Given the description of an element on the screen output the (x, y) to click on. 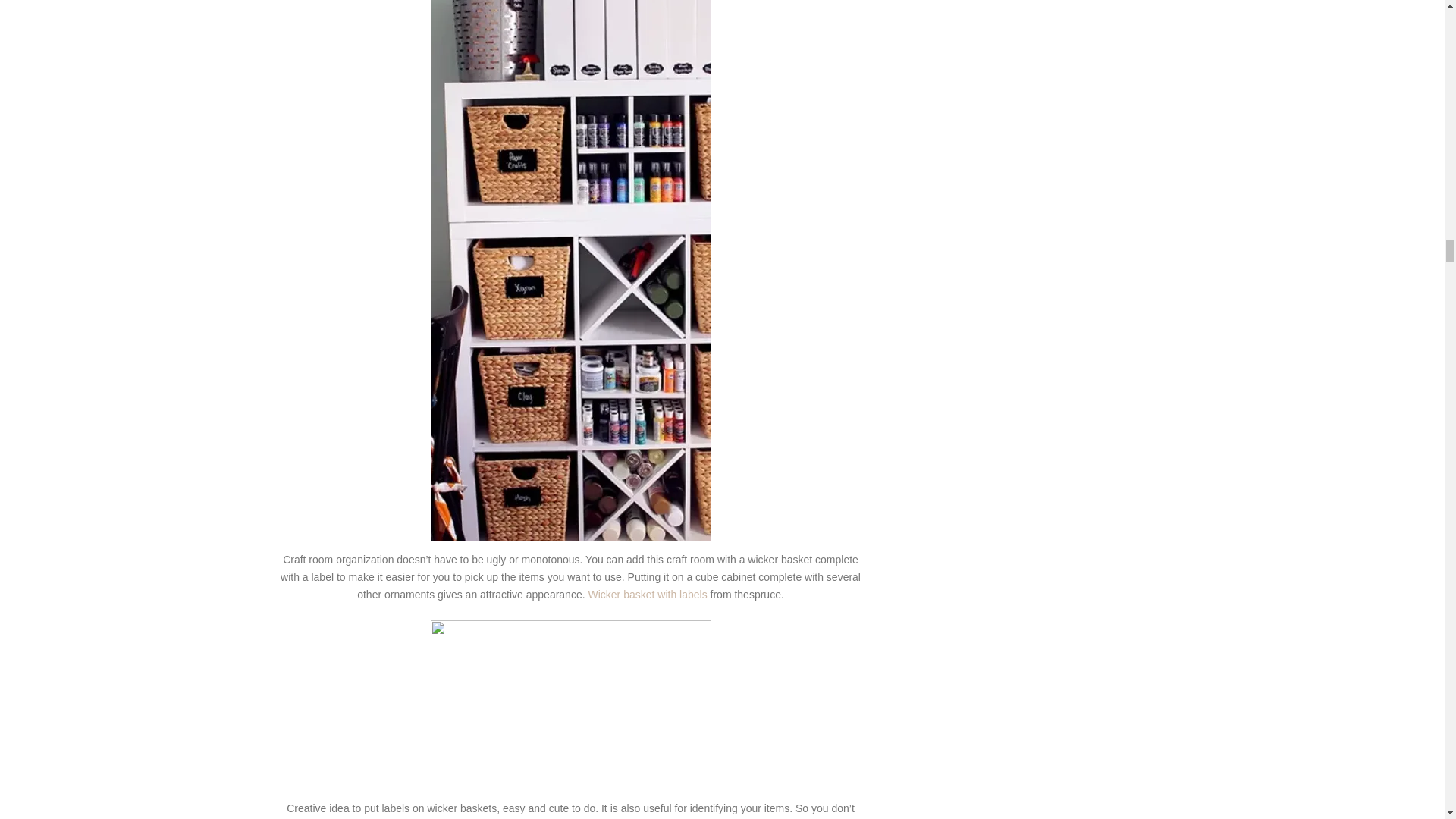
Wicker basket with labels (649, 594)
